Given the description of an element on the screen output the (x, y) to click on. 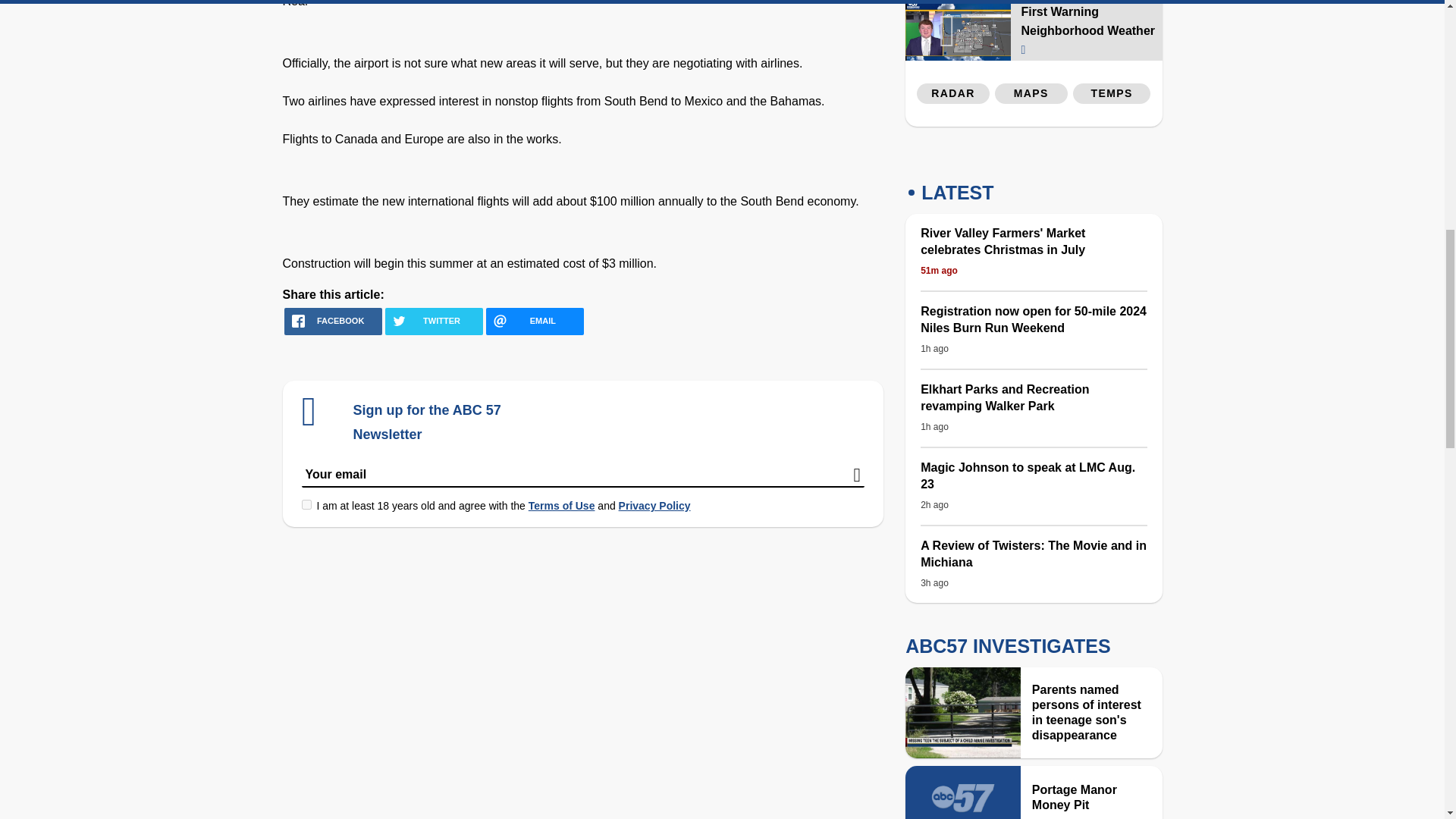
on (306, 504)
